Given the description of an element on the screen output the (x, y) to click on. 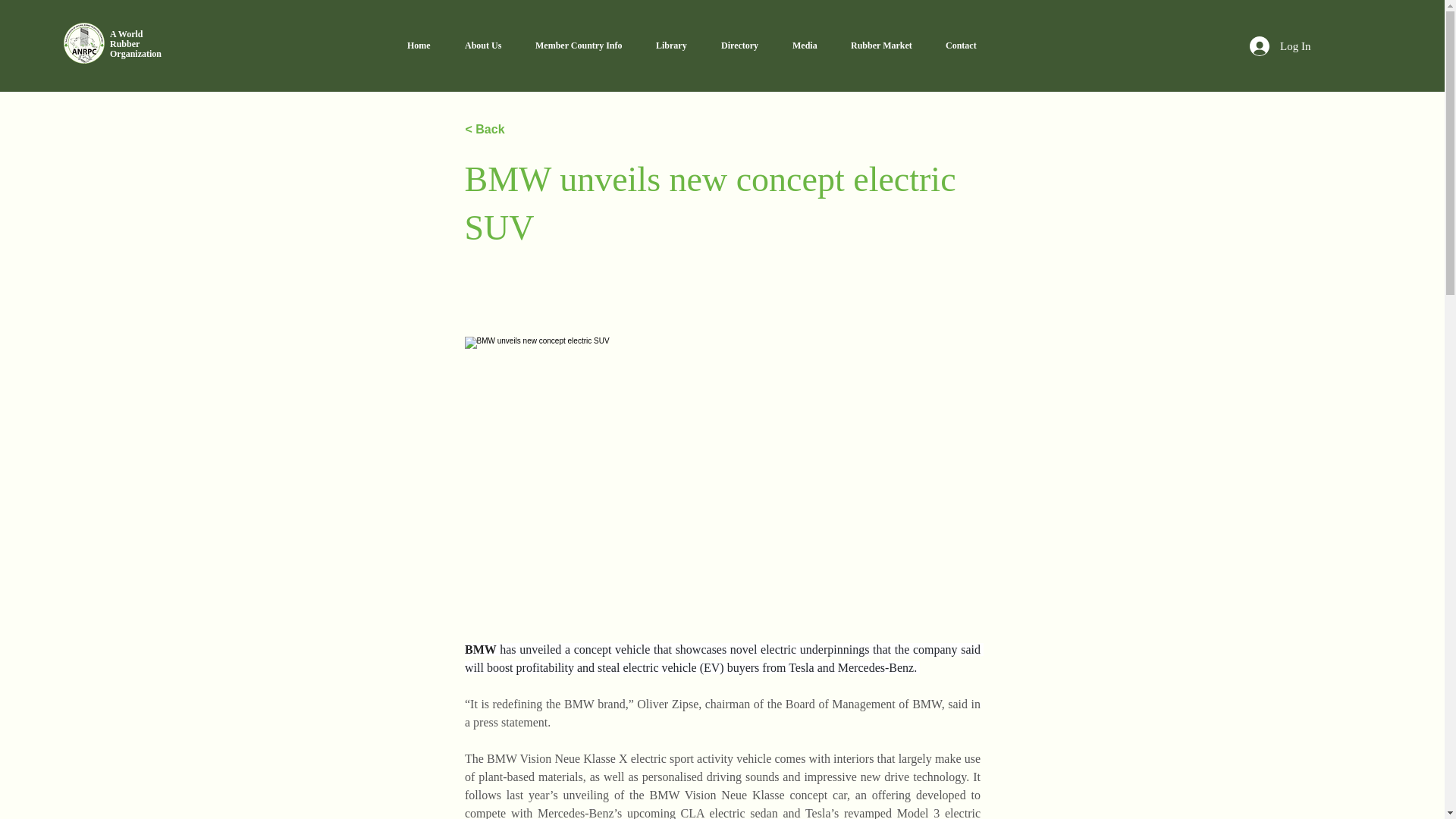
Rubber Market (885, 45)
Contact (965, 45)
Log In (1279, 45)
Home (424, 45)
